Given the description of an element on the screen output the (x, y) to click on. 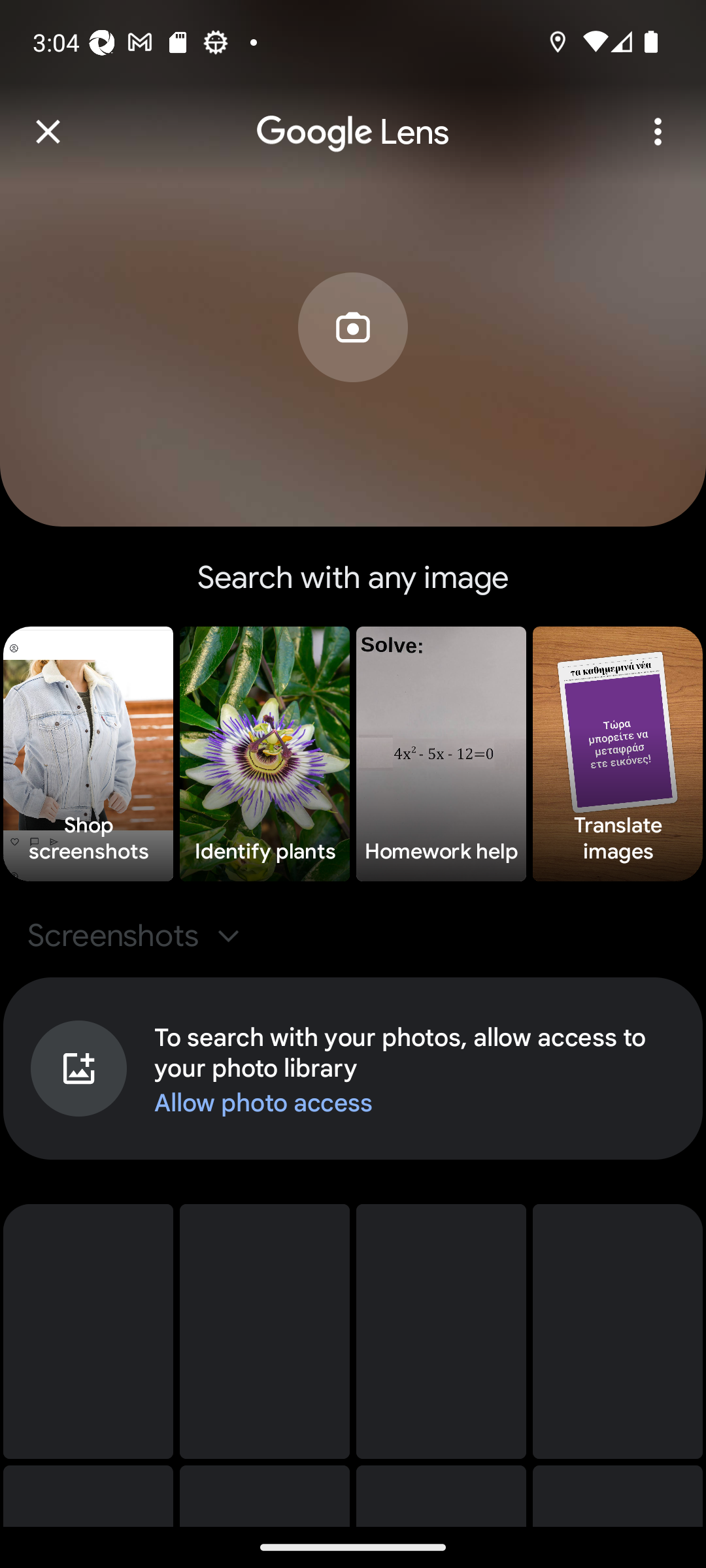
Google Lens Lens (352, 118)
Close (47, 131)
More options (657, 131)
Search with your camera (353, 356)
Shop screenshots (87, 754)
Identify plants (264, 754)
Homework help (440, 754)
Translate images (617, 754)
